Given the description of an element on the screen output the (x, y) to click on. 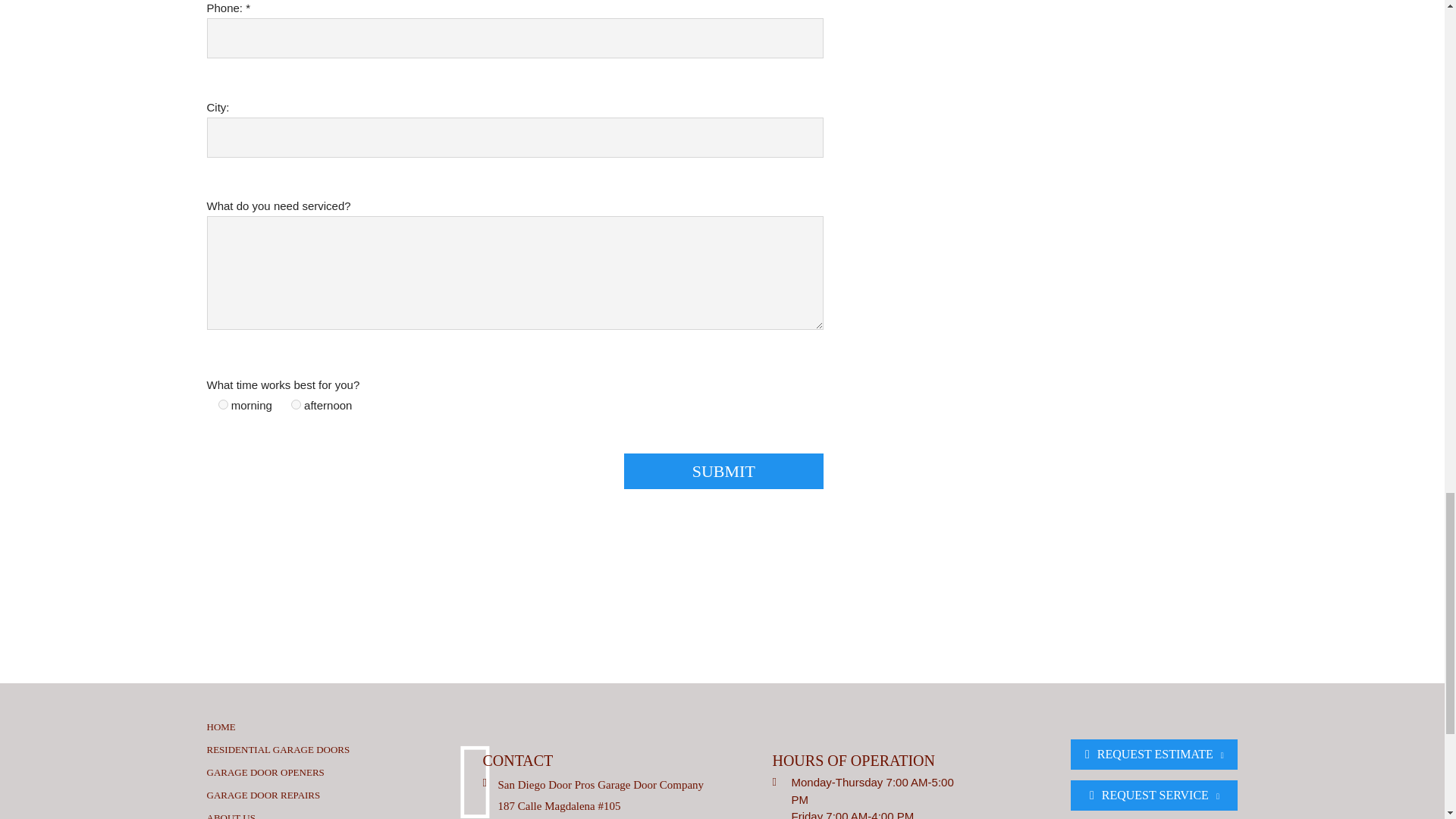
afternoon (296, 404)
morning (223, 404)
